Given the description of an element on the screen output the (x, y) to click on. 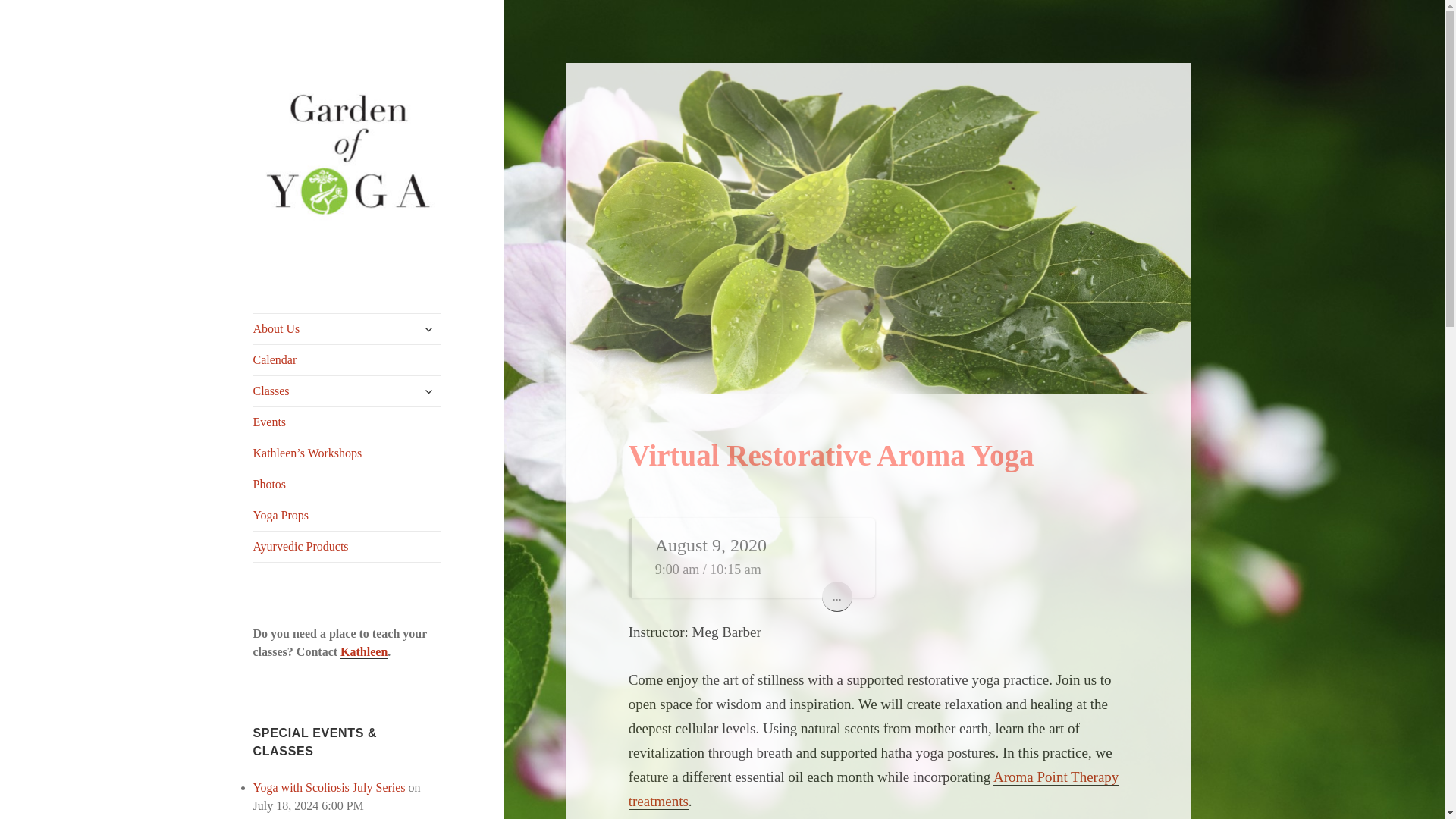
About Us (347, 328)
Ayurvedic Products (347, 546)
Classes (347, 390)
Yoga Props (347, 515)
Photos (347, 484)
... (836, 596)
expand child menu (428, 391)
Calendar (347, 359)
Garden of Yoga (328, 273)
expand child menu (428, 328)
Yoga with Scoliosis July Series (329, 787)
Events (347, 422)
Aroma Point Therapy treatments (873, 789)
Gentle Yoga Summer Series (321, 818)
Kathleen (363, 652)
